Given the description of an element on the screen output the (x, y) to click on. 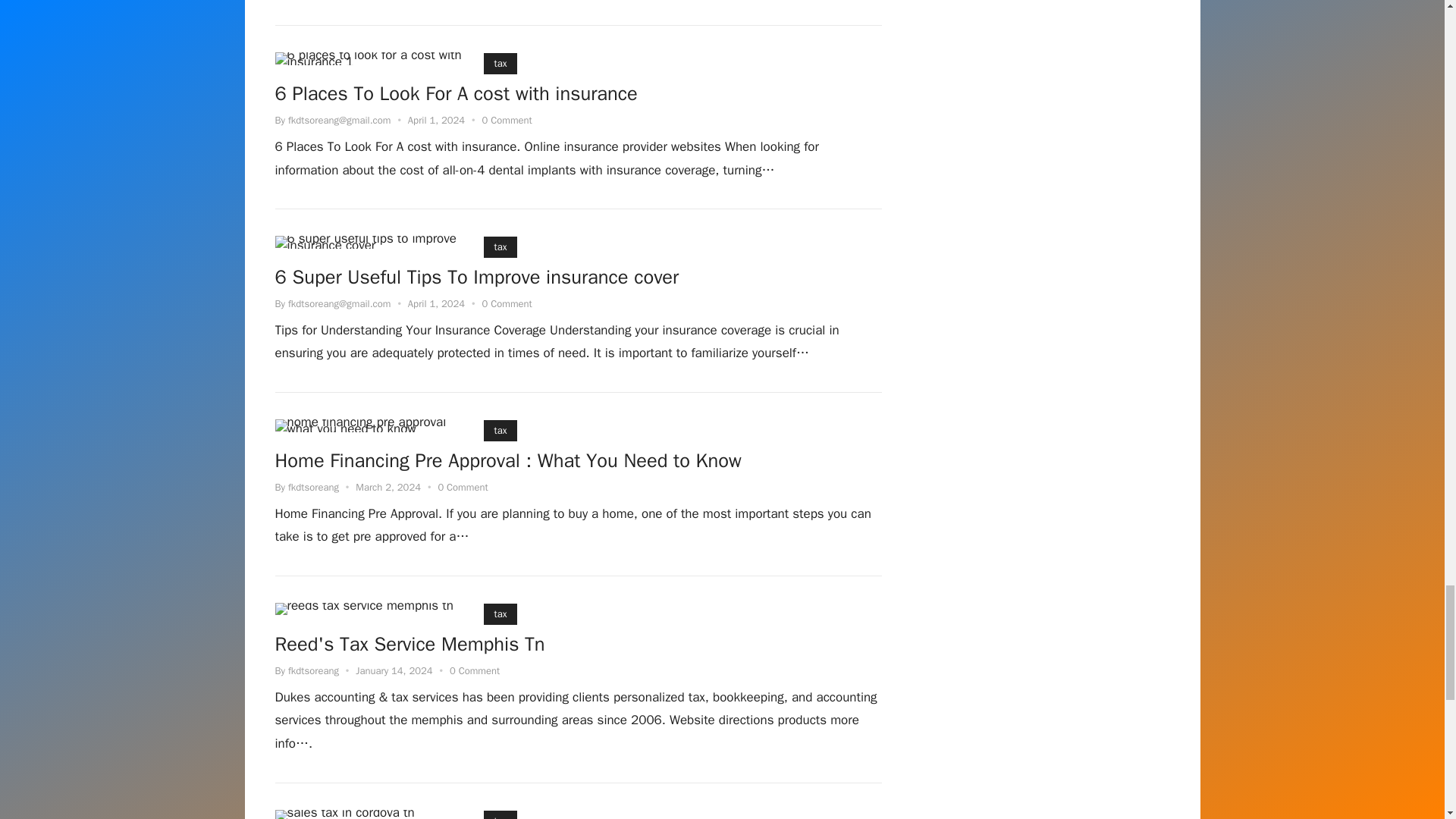
6 Super Useful Tips To Improve insurance cover (476, 278)
tax (500, 63)
0 Comment (506, 303)
0 Comment (506, 119)
6 Places To Look For A cost with insurance (456, 95)
tax (500, 613)
fkdtsoreang (313, 486)
tax (500, 430)
tax (500, 246)
0 Comment (462, 486)
